Given the description of an element on the screen output the (x, y) to click on. 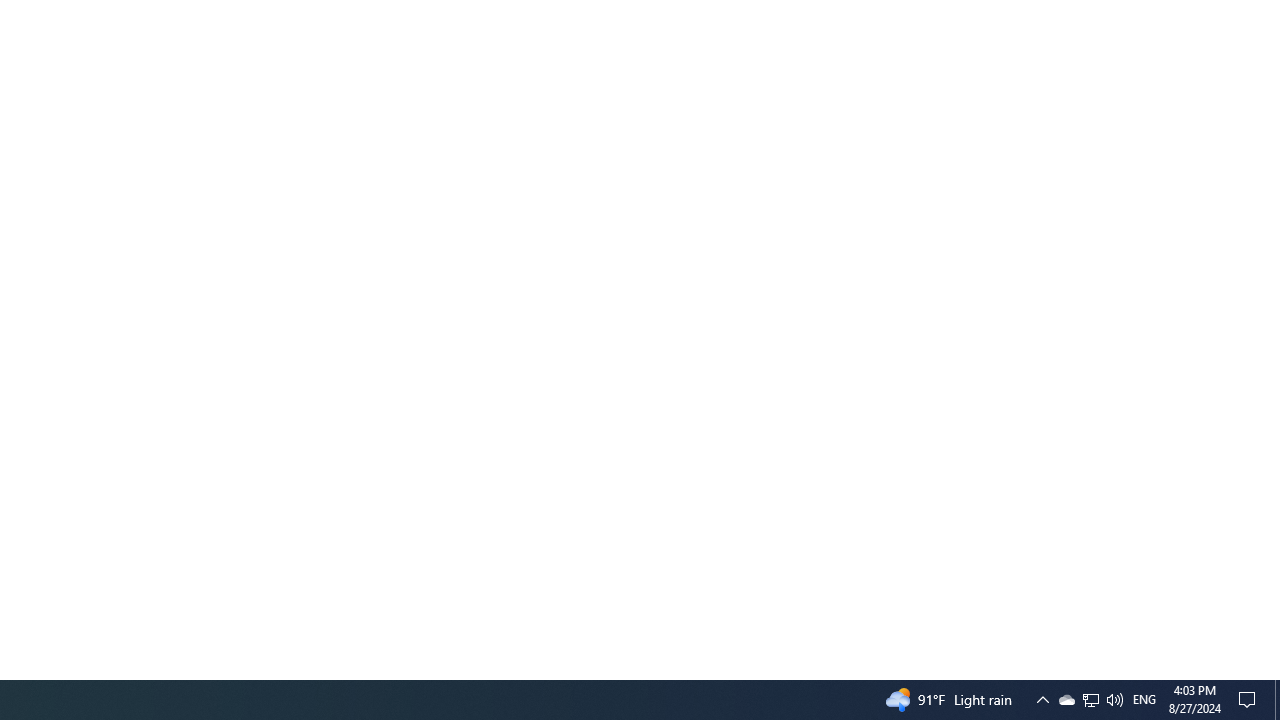
Notification Chevron (1042, 699)
Show desktop (1277, 699)
Tray Input Indicator - English (United States) (1144, 699)
Q2790: 100% (1114, 699)
User Promoted Notification Area (1091, 699)
Action Center, No new notifications (1090, 699)
